Given the description of an element on the screen output the (x, y) to click on. 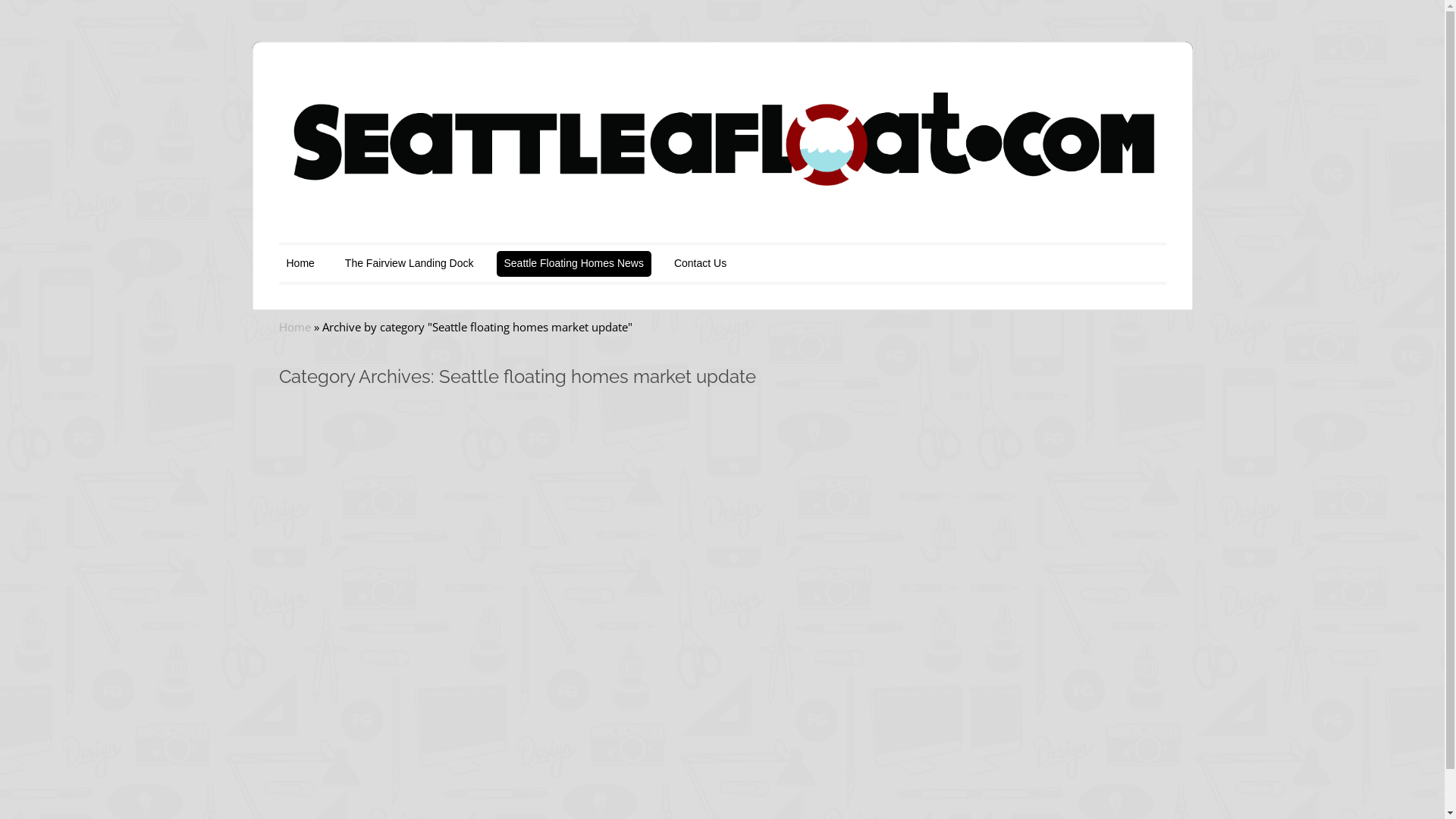
Home Element type: text (294, 326)
Seattle Floating Homes News Element type: text (572, 263)
Home Element type: text (300, 263)
Contact Us Element type: text (700, 263)
The Fairview Landing Dock Element type: text (409, 263)
